Given the description of an element on the screen output the (x, y) to click on. 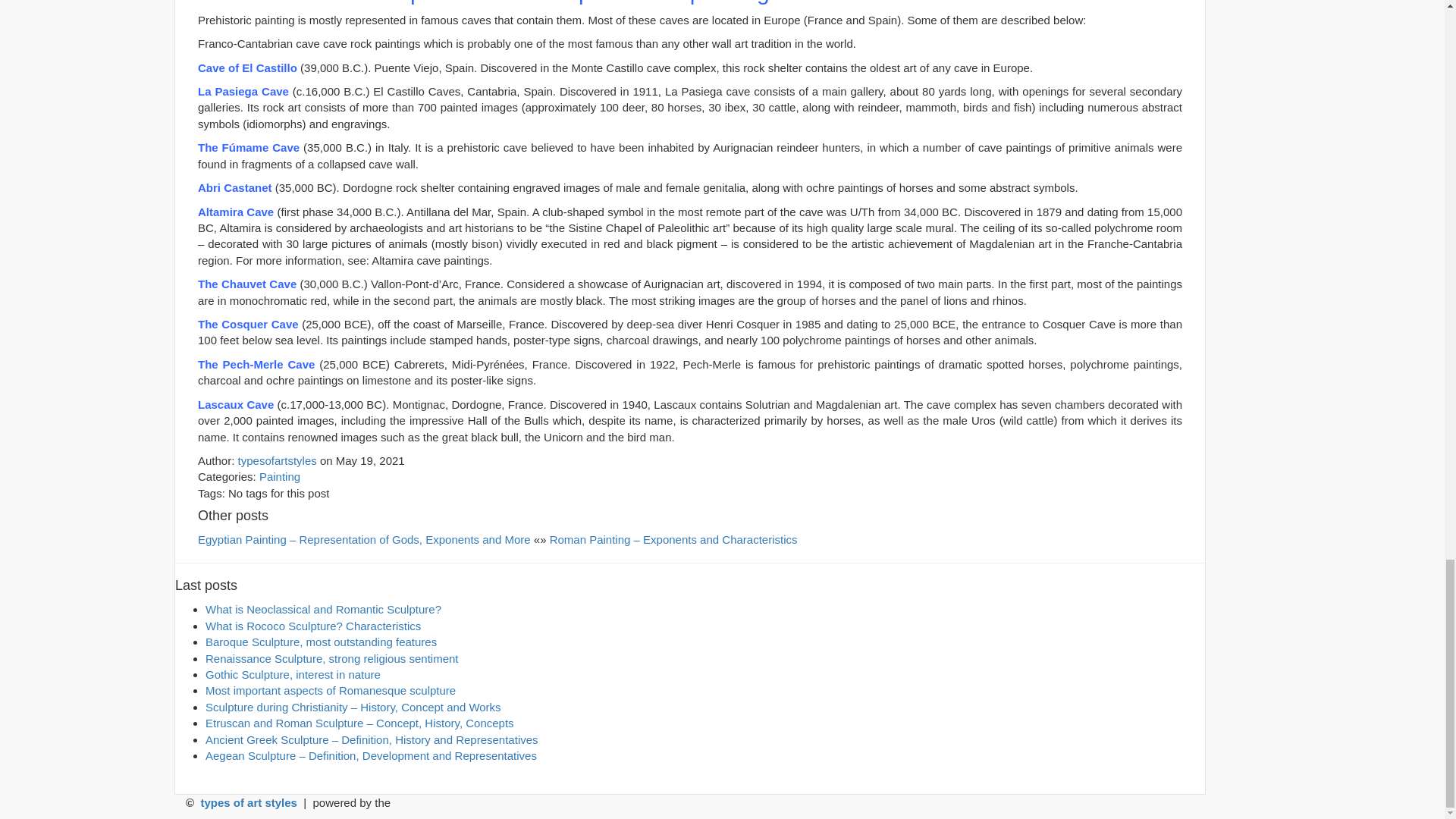
Baroque Sculpture, most outstanding features (320, 641)
Gothic Sculpture, interest in nature (292, 674)
Most important aspects of Romanesque sculpture (330, 689)
Posts by typesofartstyles (277, 460)
What is Rococo Sculpture? Characteristics (312, 625)
Painting (279, 476)
Renaissance Sculpture, strong religious sentiment (331, 658)
What is Neoclassical and Romantic Sculpture? (323, 608)
typesofartstyles (277, 460)
